Given the description of an element on the screen output the (x, y) to click on. 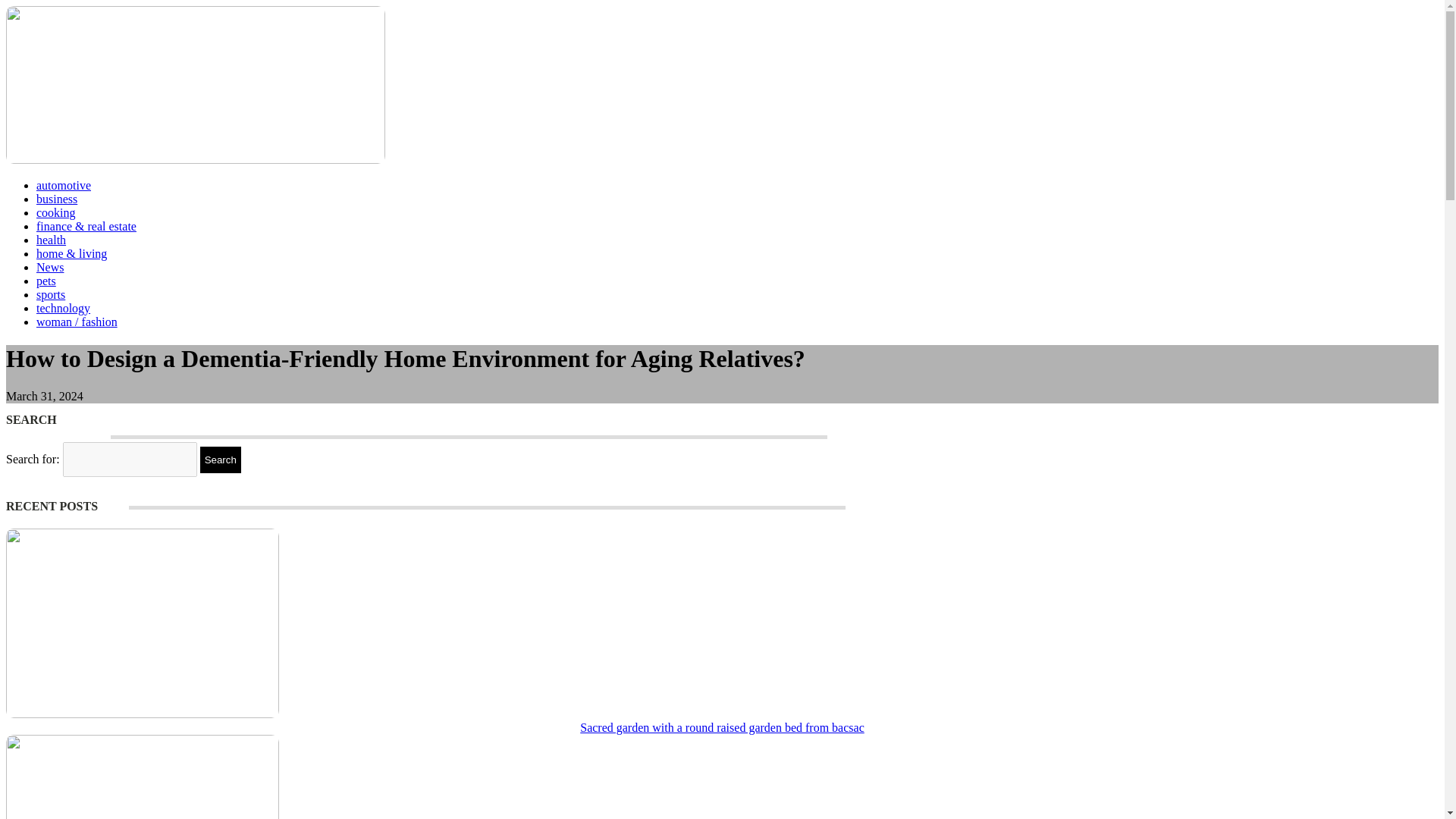
health (50, 239)
sports (50, 294)
Sacred garden with a round raised garden bed from bacsac (721, 727)
cooking (55, 212)
Search (220, 459)
automotive (63, 185)
business (56, 198)
pets (46, 280)
Search (220, 459)
News (50, 267)
